Given the description of an element on the screen output the (x, y) to click on. 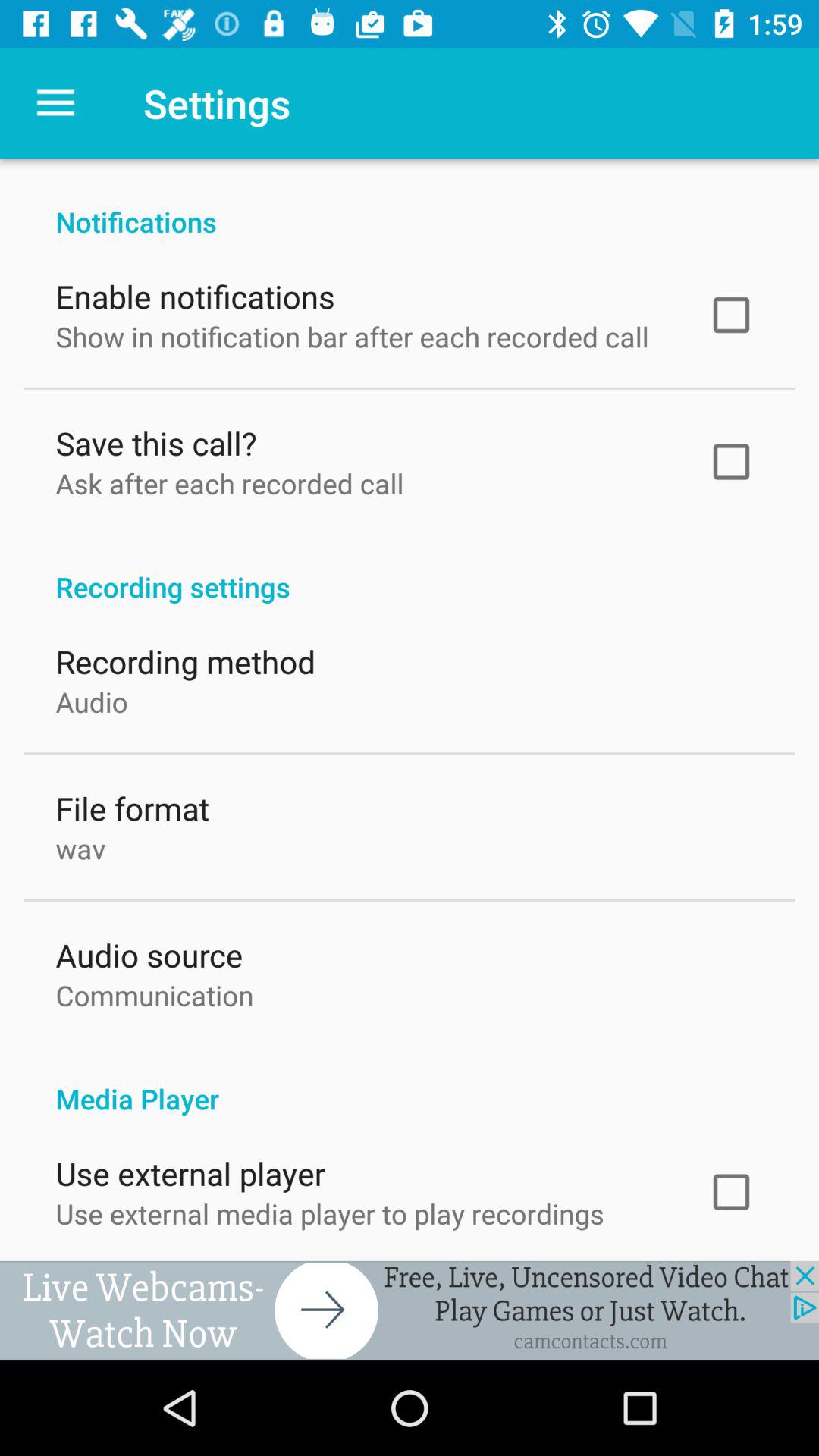
tap the item below recording settings icon (185, 657)
